Given the description of an element on the screen output the (x, y) to click on. 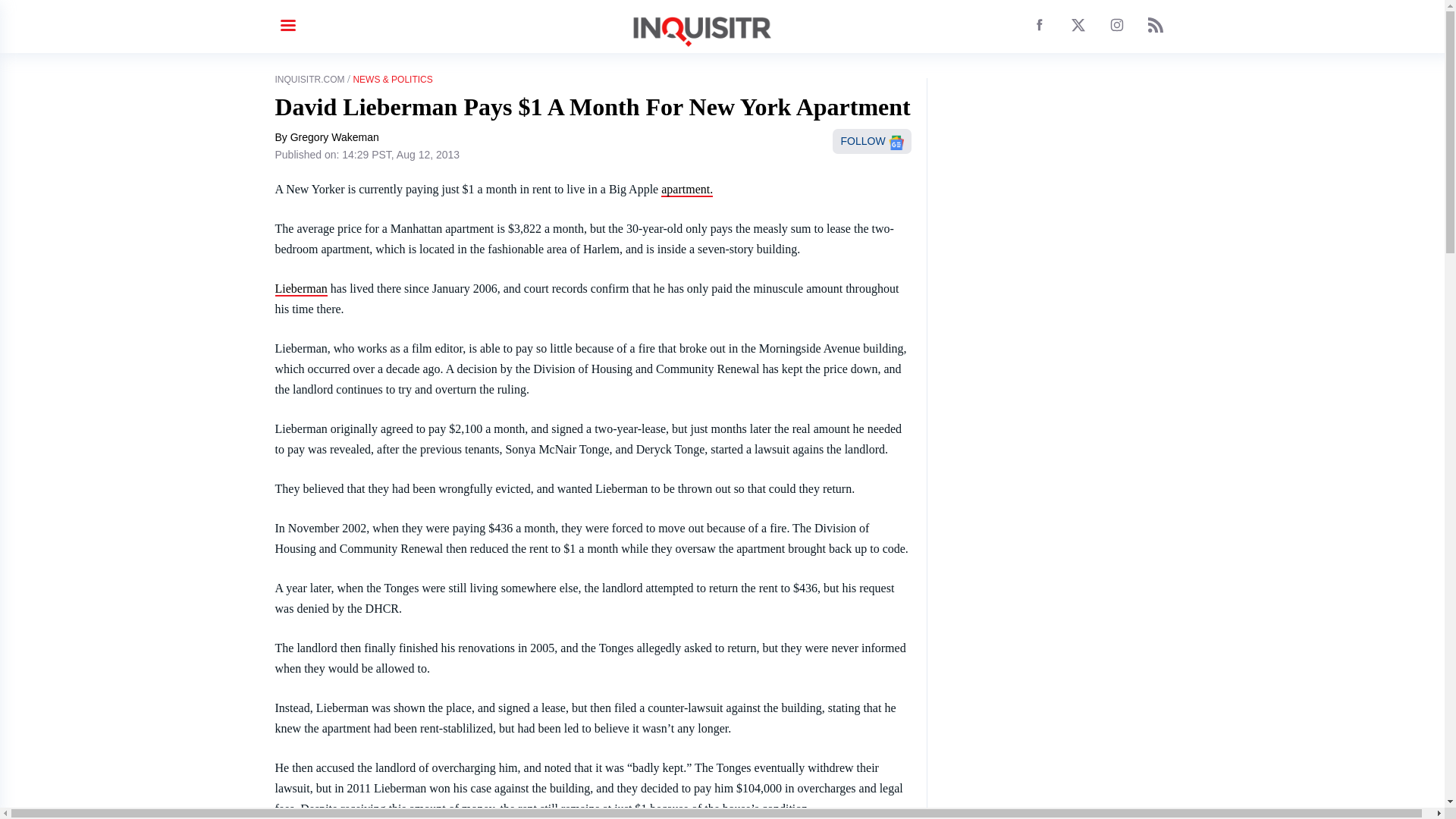
INQUISITR.COM (309, 79)
DNA Info (300, 288)
Inquisitr (687, 189)
